Given the description of an element on the screen output the (x, y) to click on. 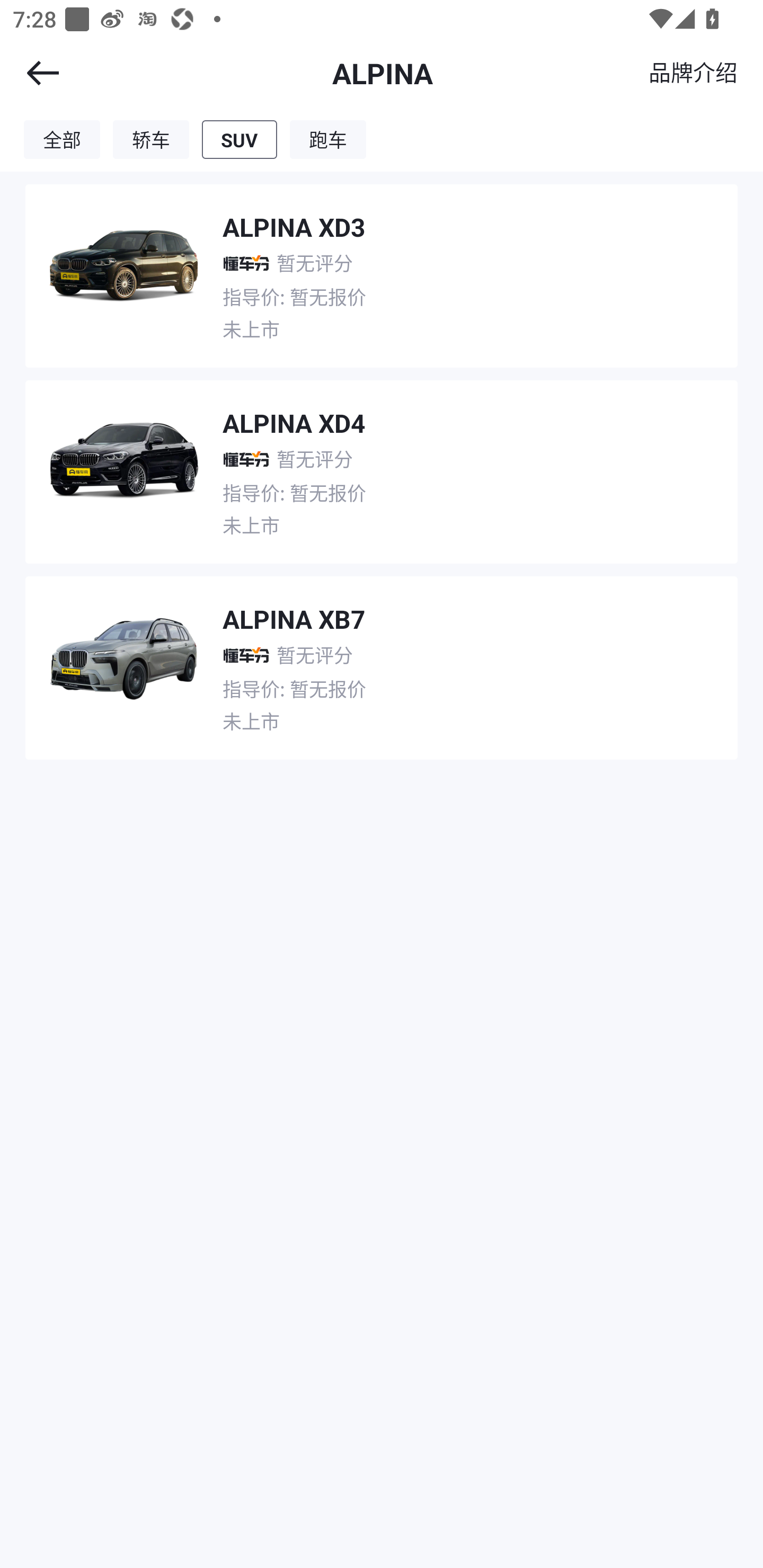
 (30, 72)
品牌介绍 (692, 71)
全部 (61, 139)
轿车 (150, 139)
SUV (239, 139)
跑车 (327, 139)
ALPINA XD3 暂无评分 指导价: 暂无报价 未上市 (381, 268)
ALPINA XD4 暂无评分 指导价: 暂无报价 未上市 (381, 464)
ALPINA XB7 暂无评分 指导价: 暂无报价 未上市 (381, 660)
